Given the description of an element on the screen output the (x, y) to click on. 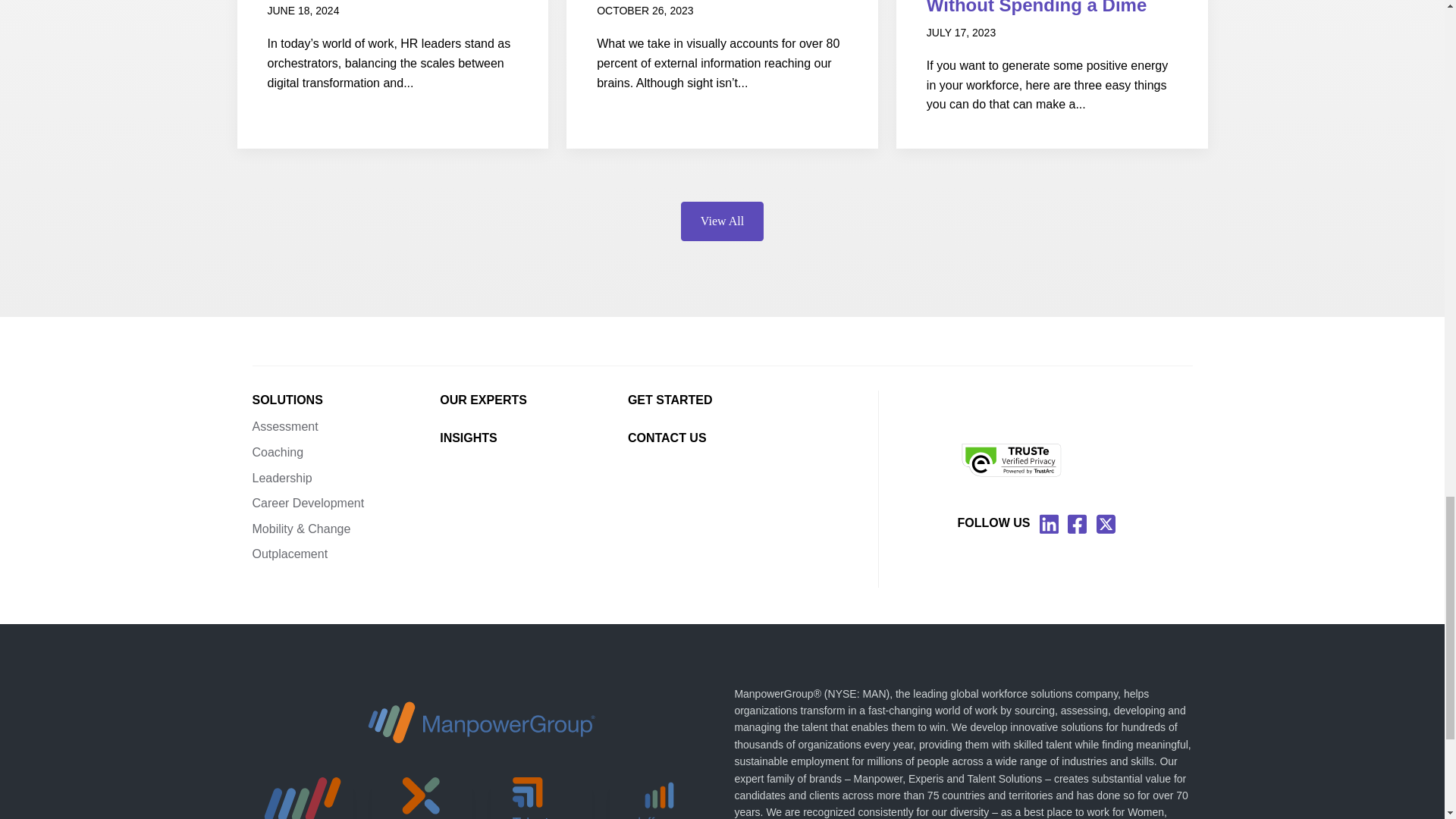
View All (721, 220)
OUR EXPERTS (533, 400)
ManpowerGroup (481, 721)
Leadership (345, 478)
Outplacement (345, 554)
Assessment (345, 426)
SOLUTIONS (345, 400)
Coaching (345, 452)
Career Development (345, 503)
